Given the description of an element on the screen output the (x, y) to click on. 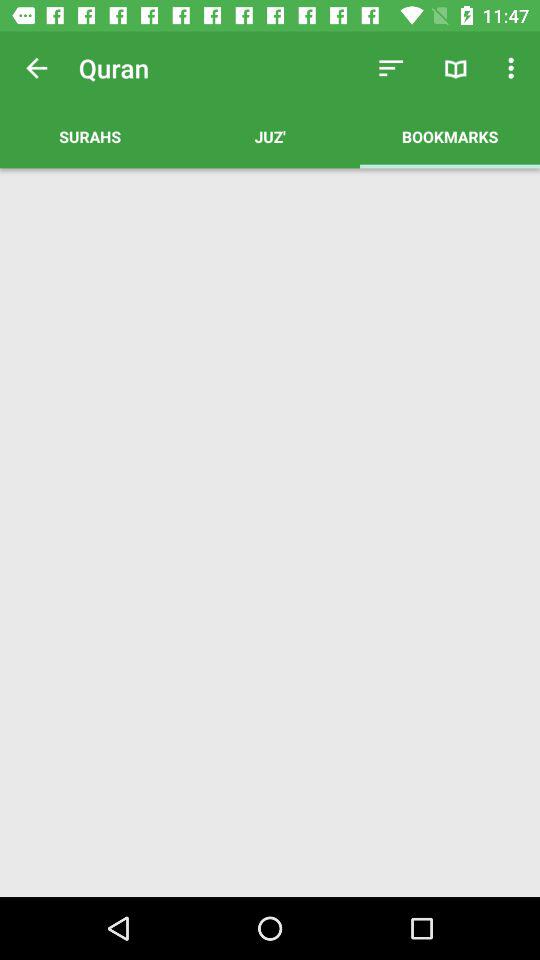
turn off app next to the juz' app (90, 136)
